Given the description of an element on the screen output the (x, y) to click on. 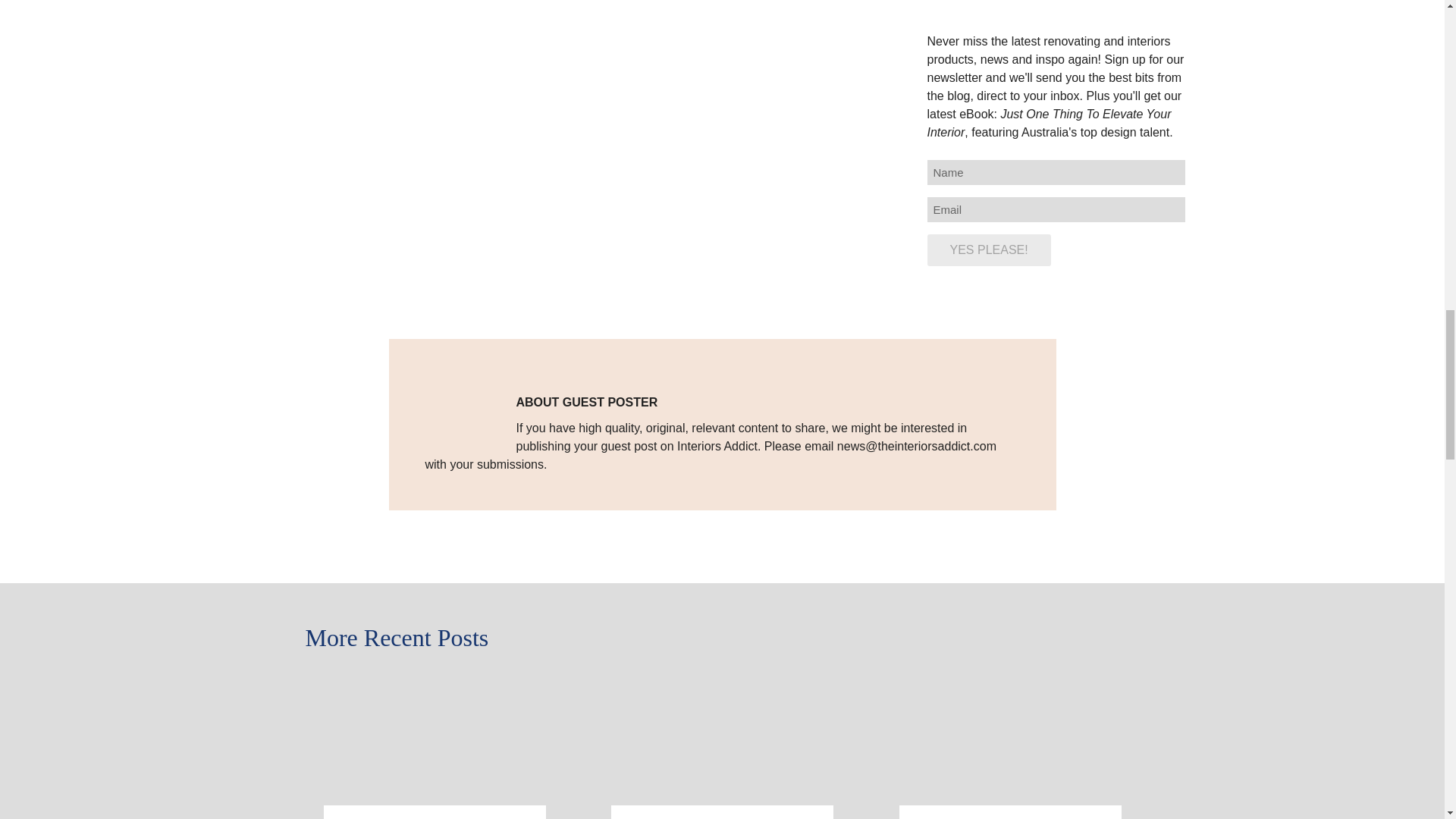
Tour this luxury Vaucluse home with lighthouse views (1010, 682)
YES PLEASE! (987, 250)
Tour this luxury Vaucluse home with lighthouse views (1002, 816)
